Given the description of an element on the screen output the (x, y) to click on. 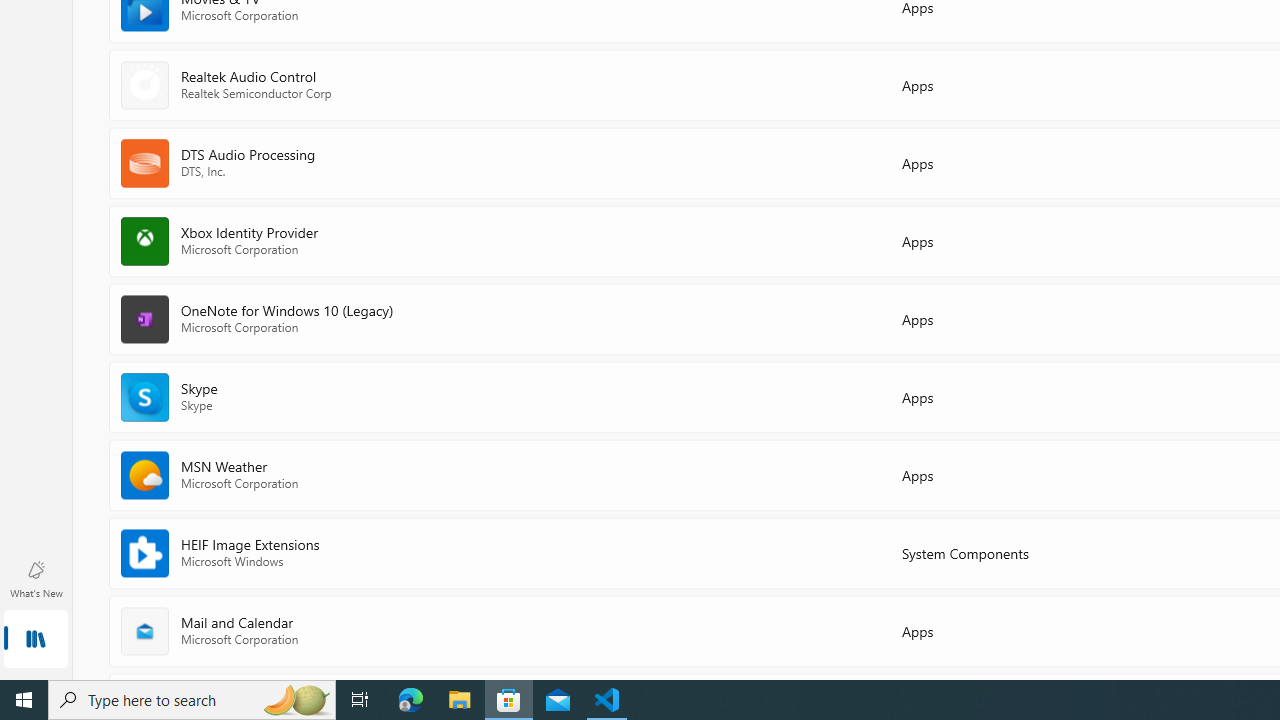
What's New (35, 578)
Library (35, 640)
